Given the description of an element on the screen output the (x, y) to click on. 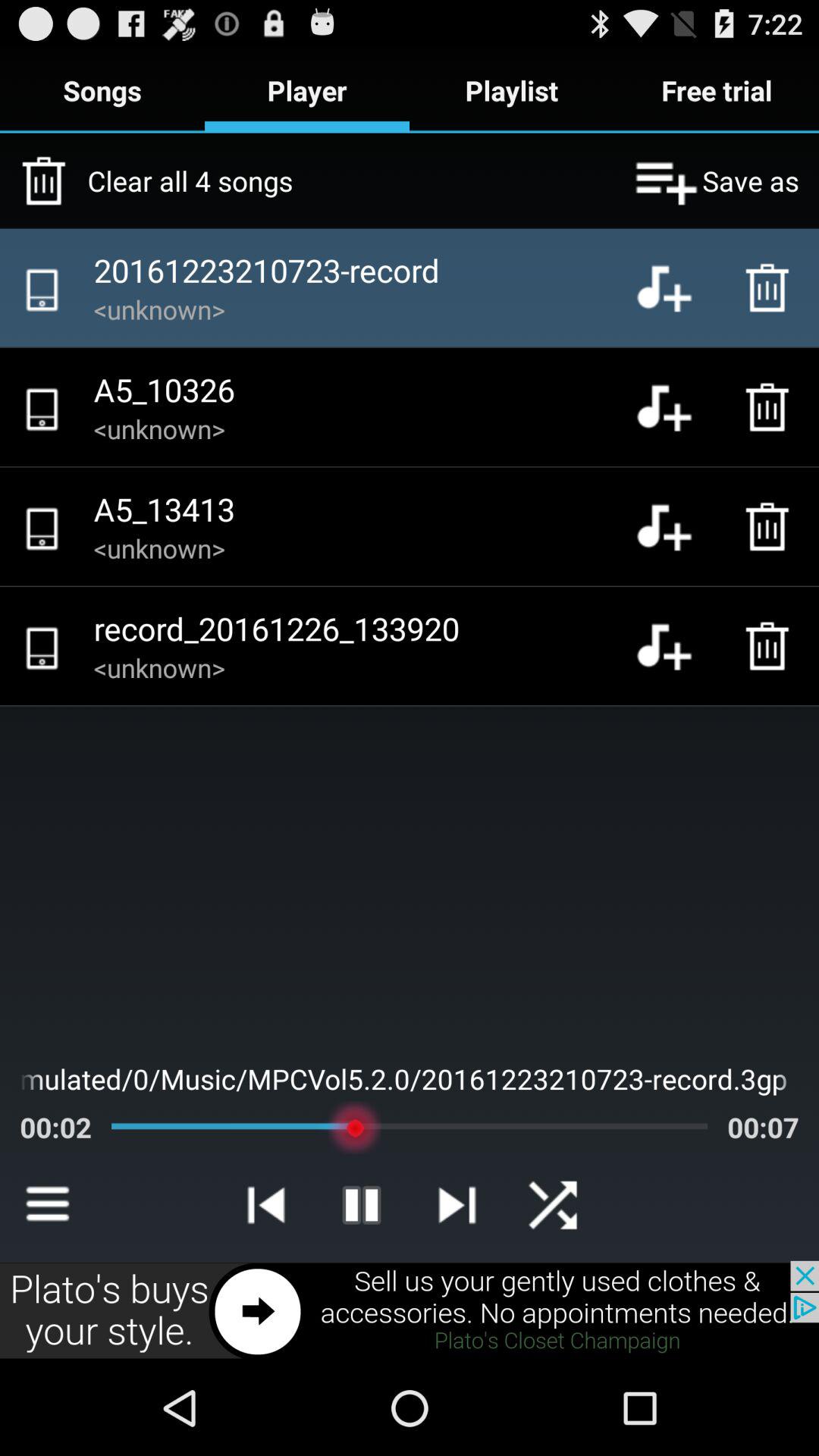
adds a song to the playlist (675, 645)
